Given the description of an element on the screen output the (x, y) to click on. 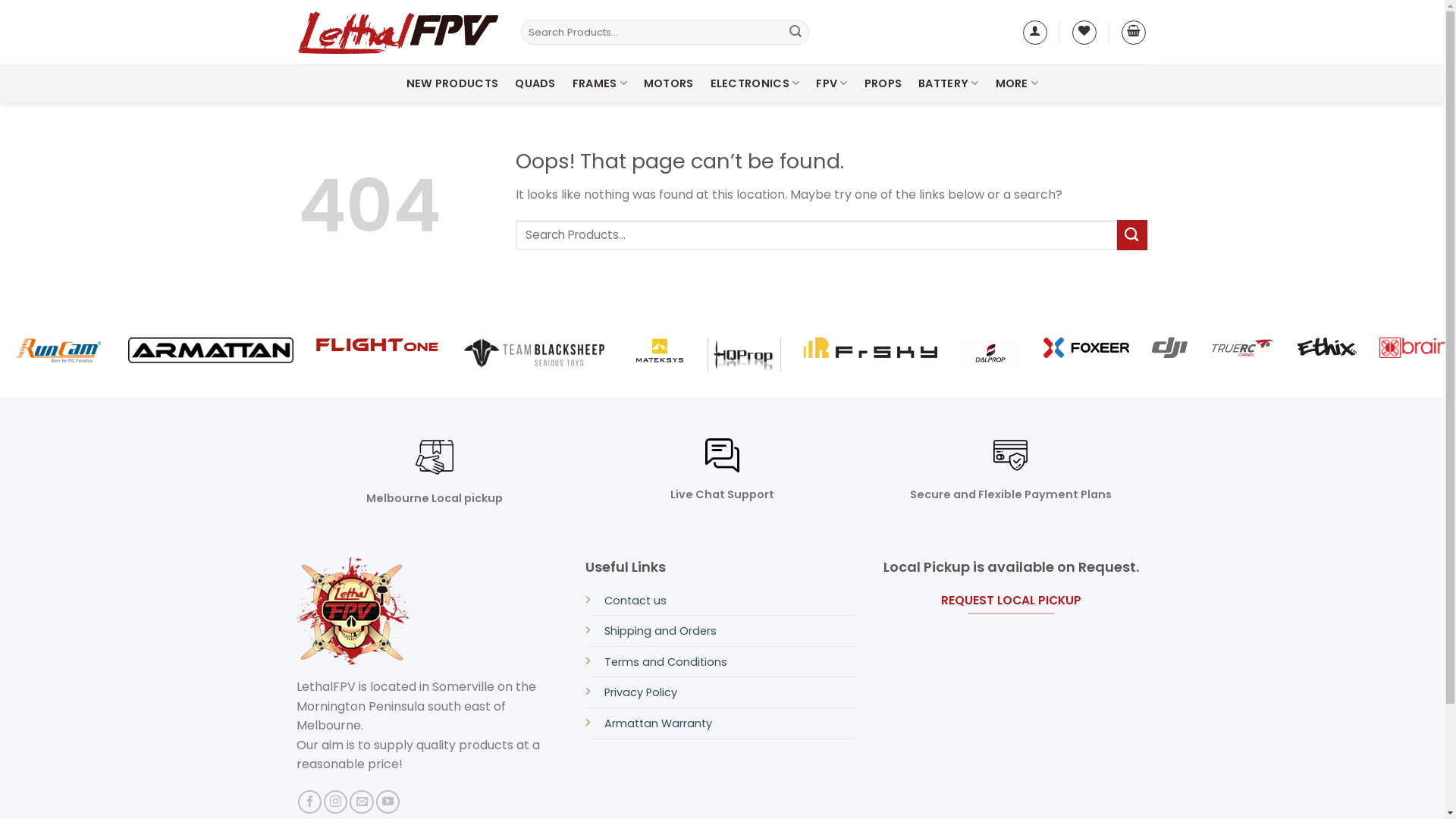
Shipping and Orders Element type: text (660, 630)
NEW PRODUCTS Element type: text (452, 83)
REQUEST LOCAL PICKUP Element type: text (1011, 600)
Send us an email Element type: hover (361, 802)
LethalFPV - Let us get you in the air! Element type: hover (397, 31)
MORE Element type: text (1016, 83)
Contact us Element type: text (635, 600)
Follow on YouTube Element type: hover (387, 802)
FPV Element type: text (831, 83)
Search Element type: text (795, 32)
Terms and Conditions Element type: text (665, 661)
Privacy Policy Element type: text (640, 691)
MOTORS Element type: text (668, 83)
FRAMES Element type: text (599, 83)
BATTERY Element type: text (948, 83)
ELECTRONICS Element type: text (755, 83)
PROPS Element type: text (882, 83)
Cart Element type: hover (1133, 31)
Follow on Facebook Element type: hover (309, 802)
QUADS Element type: text (534, 83)
Follow on Instagram Element type: hover (335, 802)
Armattan Warranty Element type: text (658, 723)
